Given the description of an element on the screen output the (x, y) to click on. 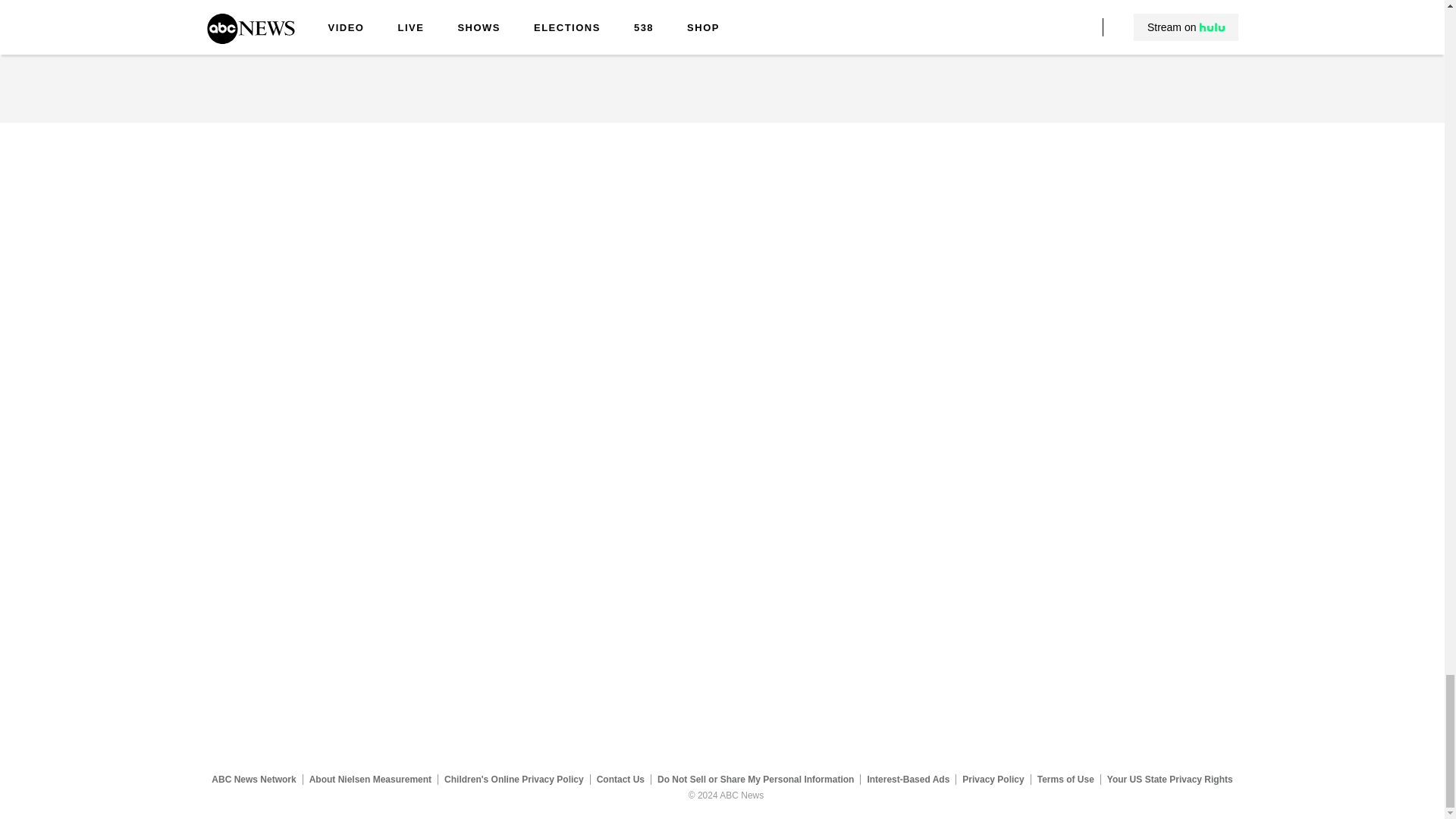
Children's Online Privacy Policy (514, 778)
ABC News Network (253, 778)
Do Not Sell or Share My Personal Information (755, 778)
Privacy Policy (993, 778)
Terms of Use (1065, 778)
About Nielsen Measurement (370, 778)
Interest-Based Ads (908, 778)
Contact Us (620, 778)
